Given the description of an element on the screen output the (x, y) to click on. 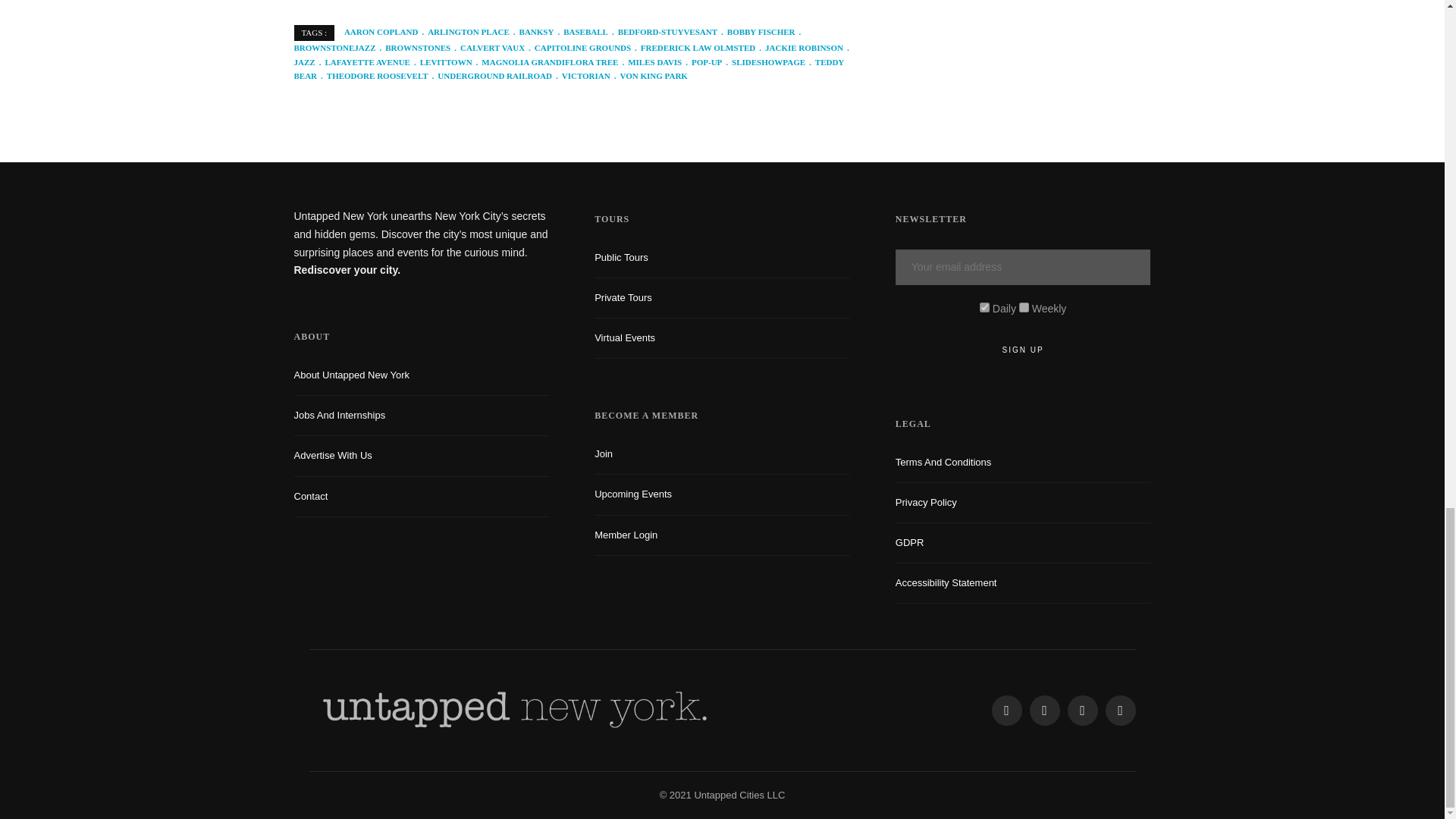
Sign up (1023, 349)
7cff6a70fd (1024, 307)
e99a09560c (984, 307)
